Given the description of an element on the screen output the (x, y) to click on. 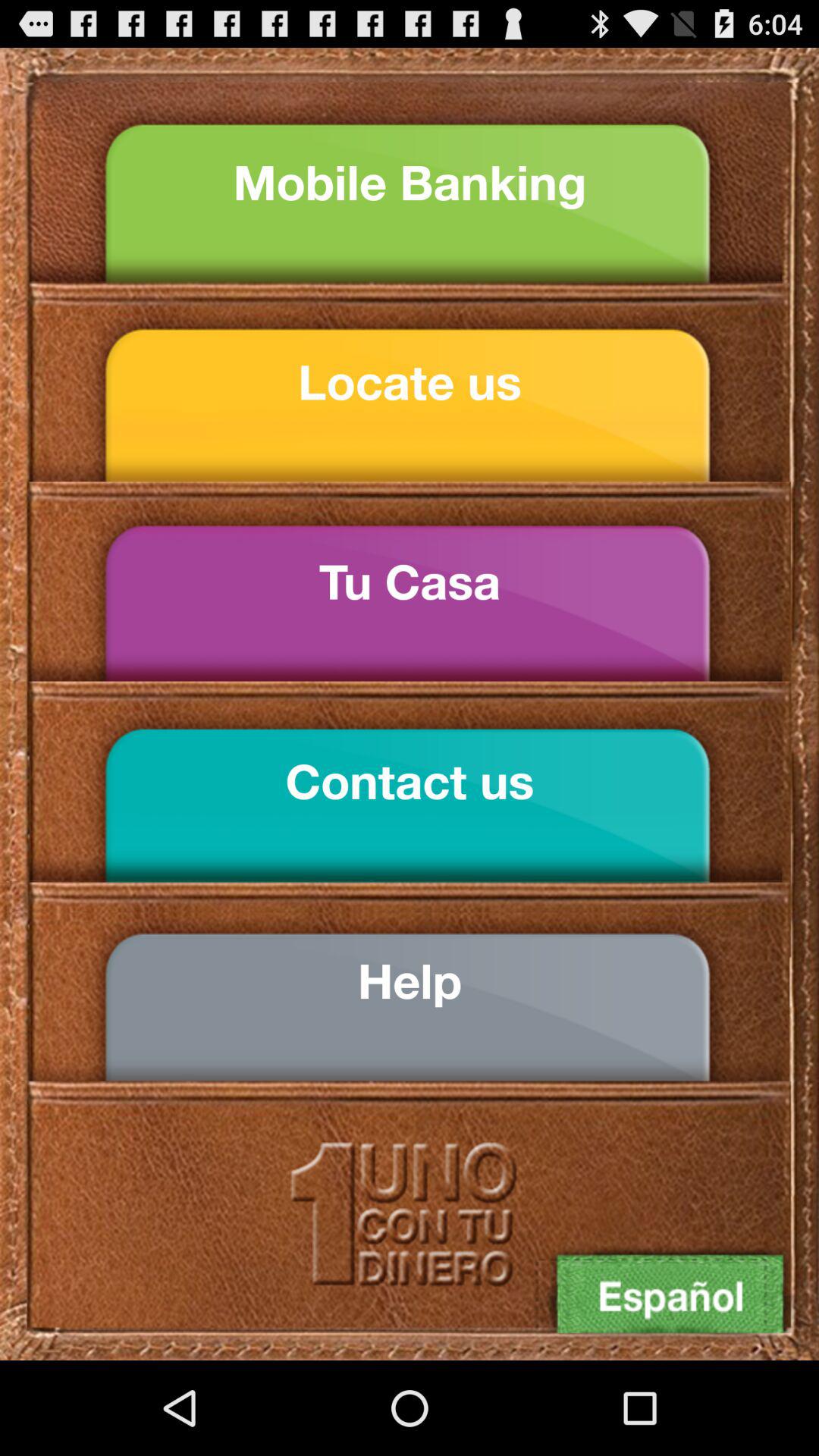
select tu casa item (409, 581)
